Given the description of an element on the screen output the (x, y) to click on. 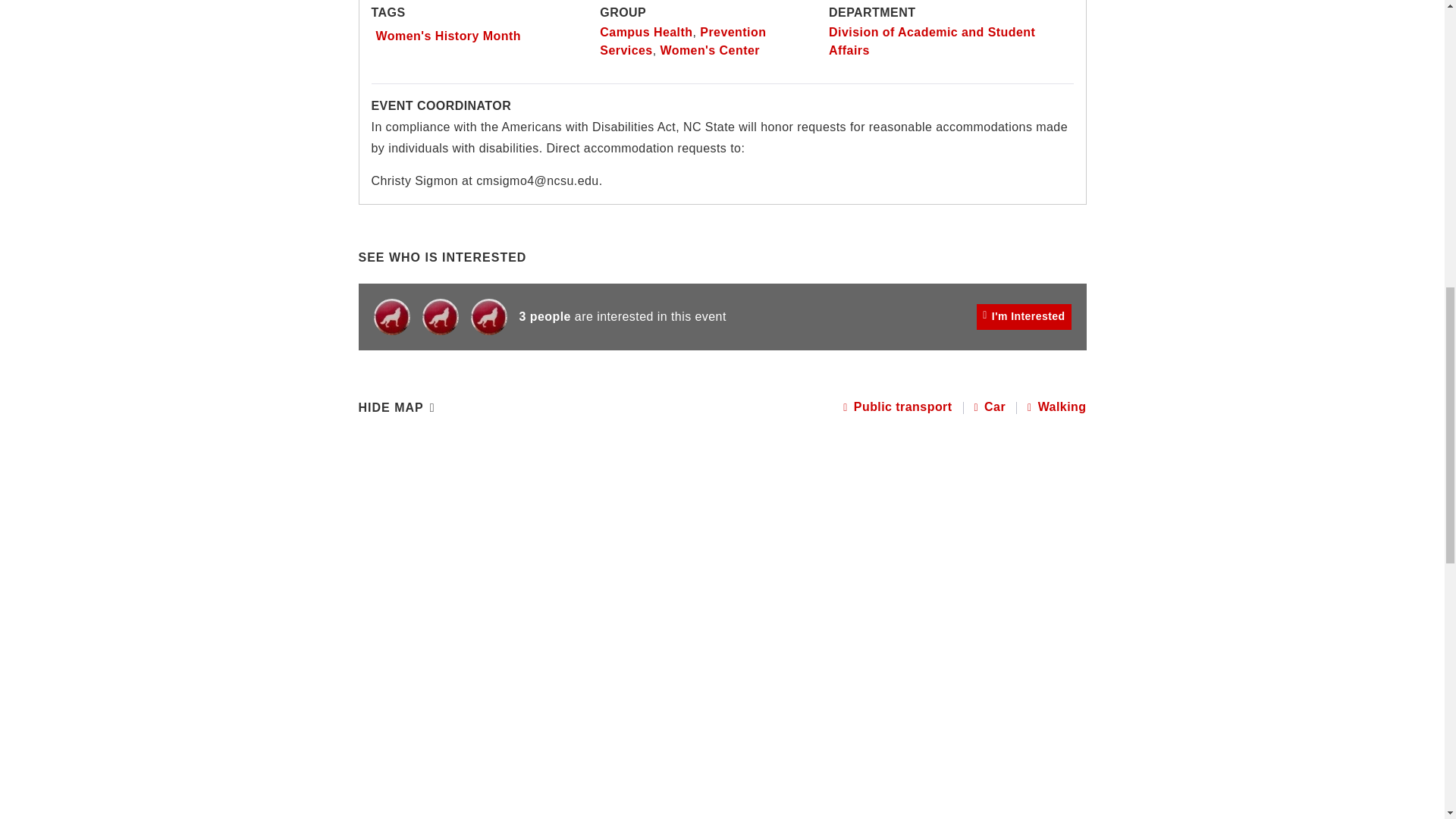
Campus Health (646, 31)
Menna Elsayed (440, 316)
Women'S History Month (448, 35)
Prevention Services (682, 40)
Ke Zhu (488, 316)
Suzanne Wardle (390, 316)
